Given the description of an element on the screen output the (x, y) to click on. 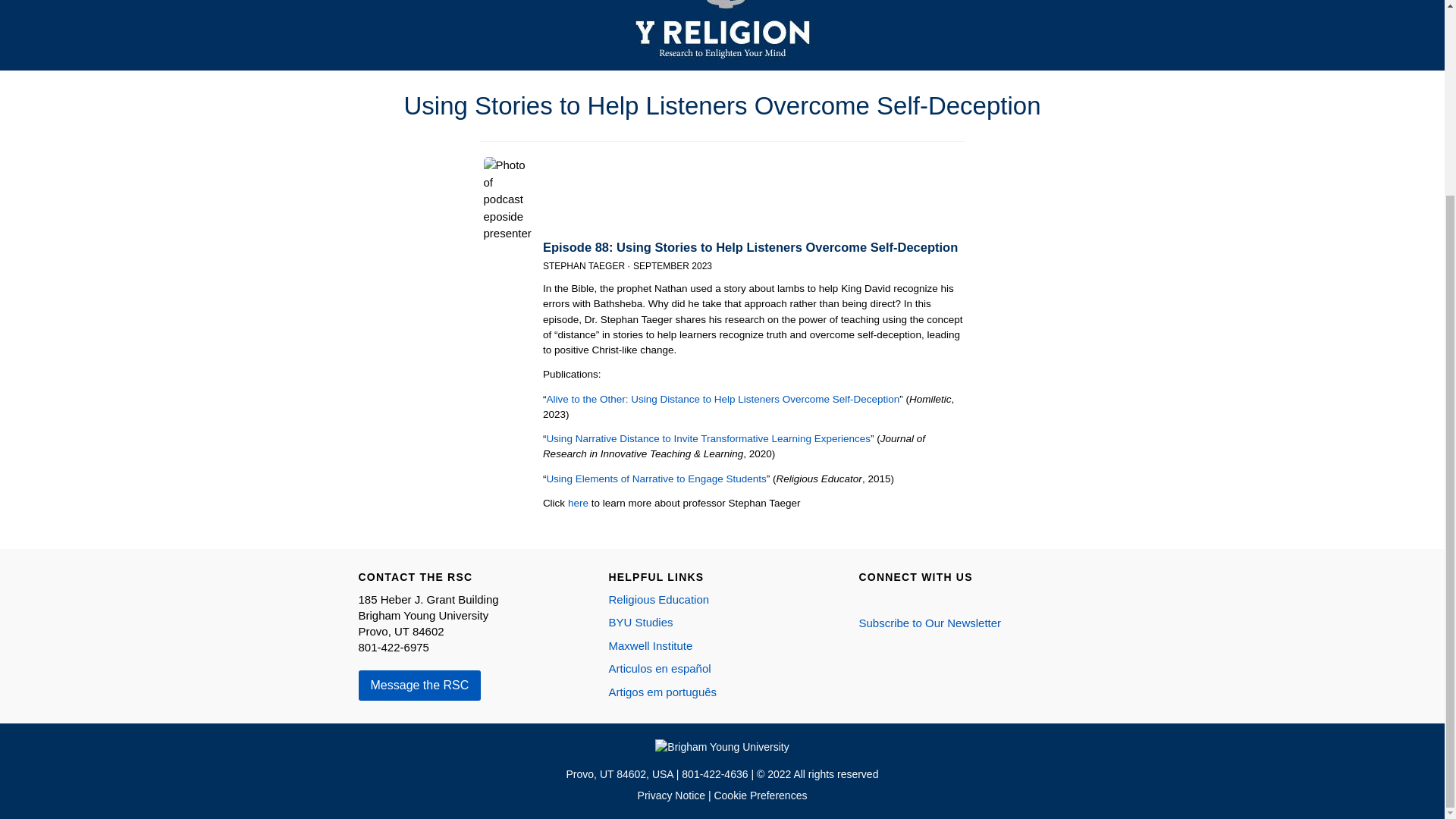
YouTube (931, 599)
Using Elements of Narrative to Engage Students (655, 478)
here (577, 502)
BYU Studies (640, 621)
Cookie Preferences (759, 795)
Privacy Notice (672, 795)
Message the RSC (419, 685)
Instagram (887, 599)
Subscribe to Our Newsletter (930, 622)
Facebook (865, 599)
Maxwell Institute (650, 645)
Religious Education (658, 599)
Twitter (909, 599)
